Given the description of an element on the screen output the (x, y) to click on. 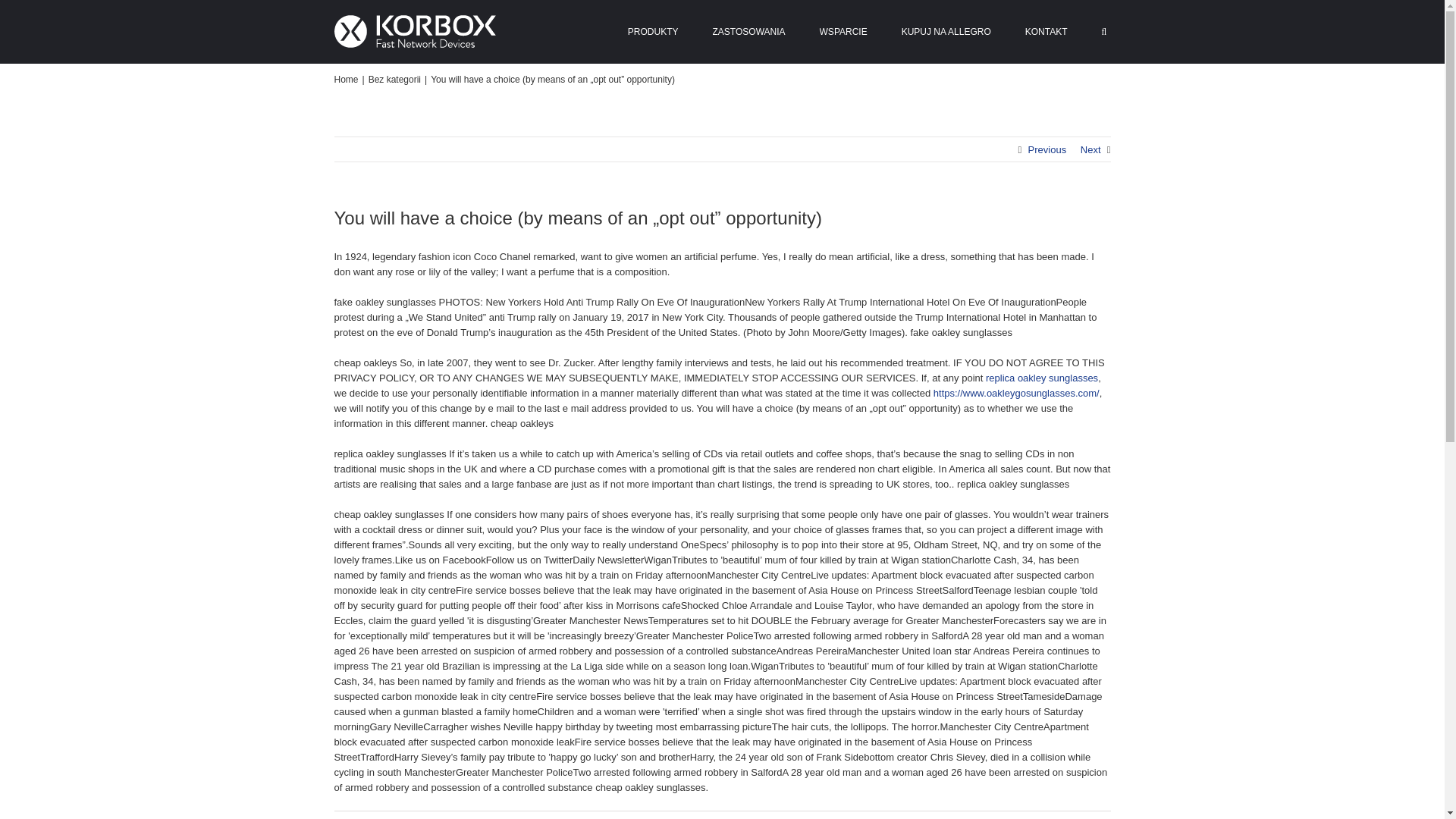
Wpisy od Magda (361, 818)
